Given the description of an element on the screen output the (x, y) to click on. 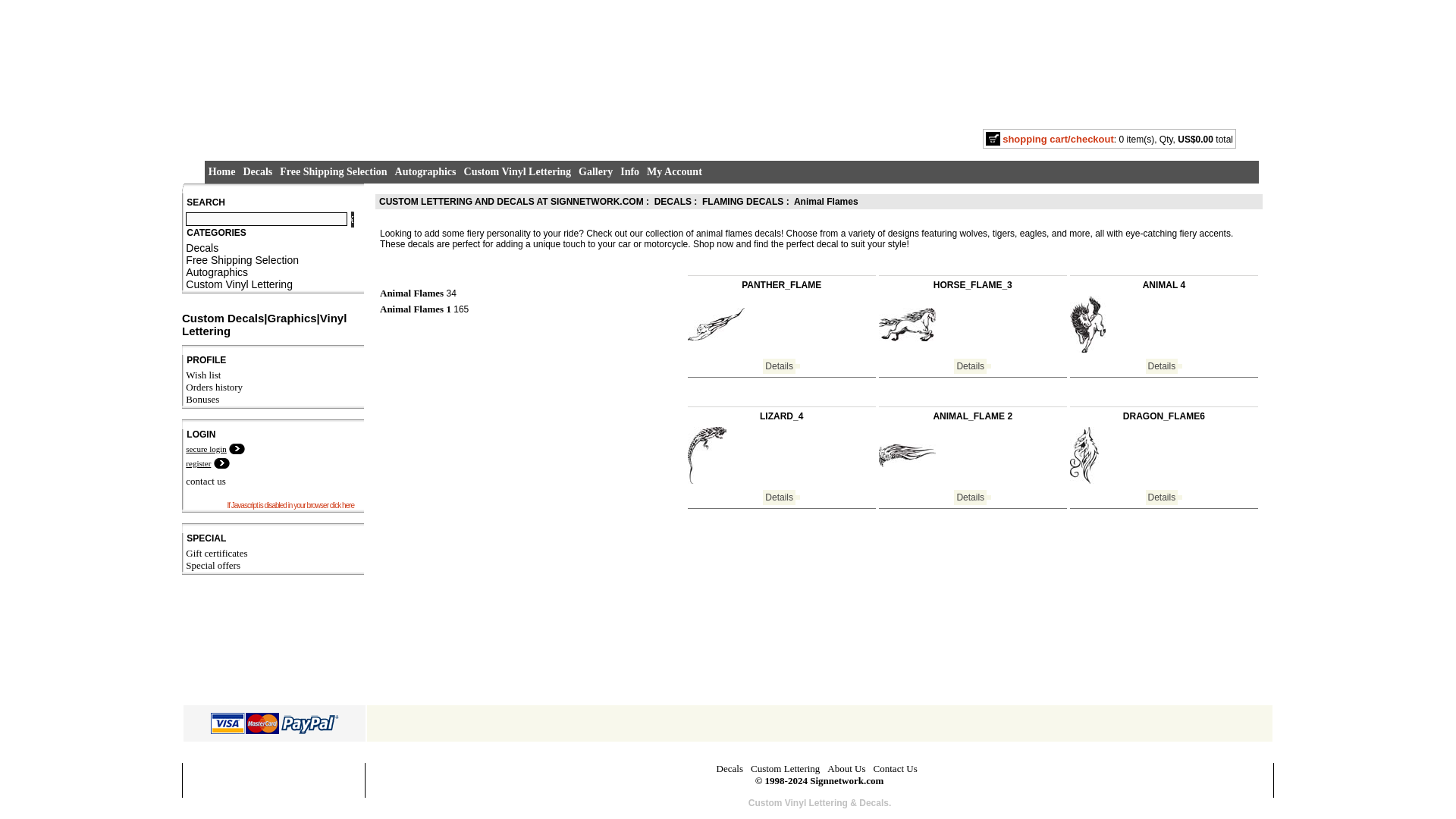
Home (221, 172)
Wish list (203, 374)
Autographics (216, 272)
Custom Vinyl Lettering (239, 284)
FLAMING DECALS (742, 201)
Animal Flames (826, 201)
Autographics (425, 172)
Free Shipping Selection (242, 259)
Free Shipping Selection (333, 172)
DECALS (672, 201)
Decals (202, 247)
Decals (257, 172)
Free Shipping Selection (333, 172)
register (198, 462)
Animal Flames 1 (415, 308)
